Given the description of an element on the screen output the (x, y) to click on. 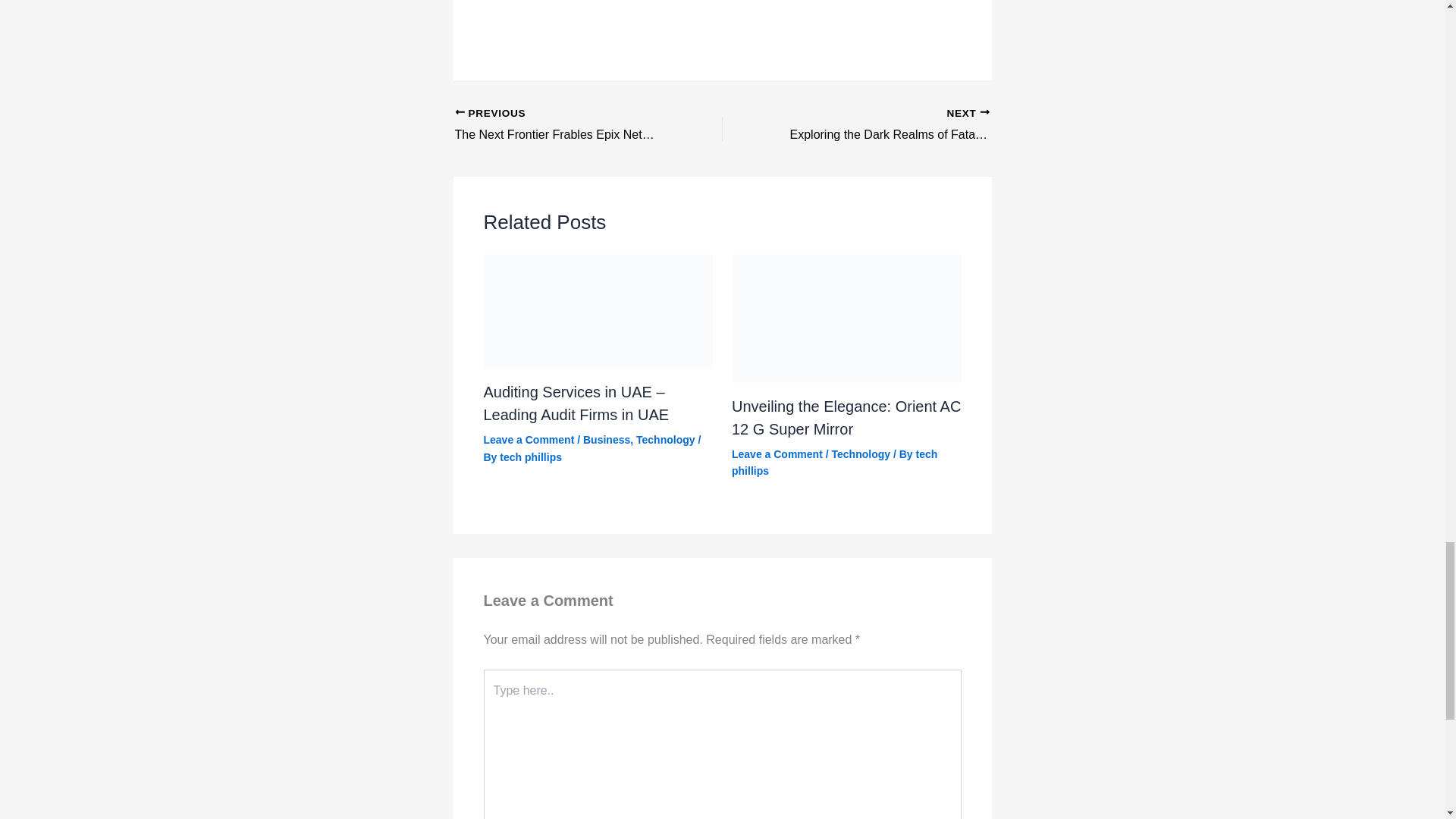
Exploring the Dark Realms of FataltotheFlesh.com Game (882, 125)
View all posts by tech phillips (882, 125)
